Given the description of an element on the screen output the (x, y) to click on. 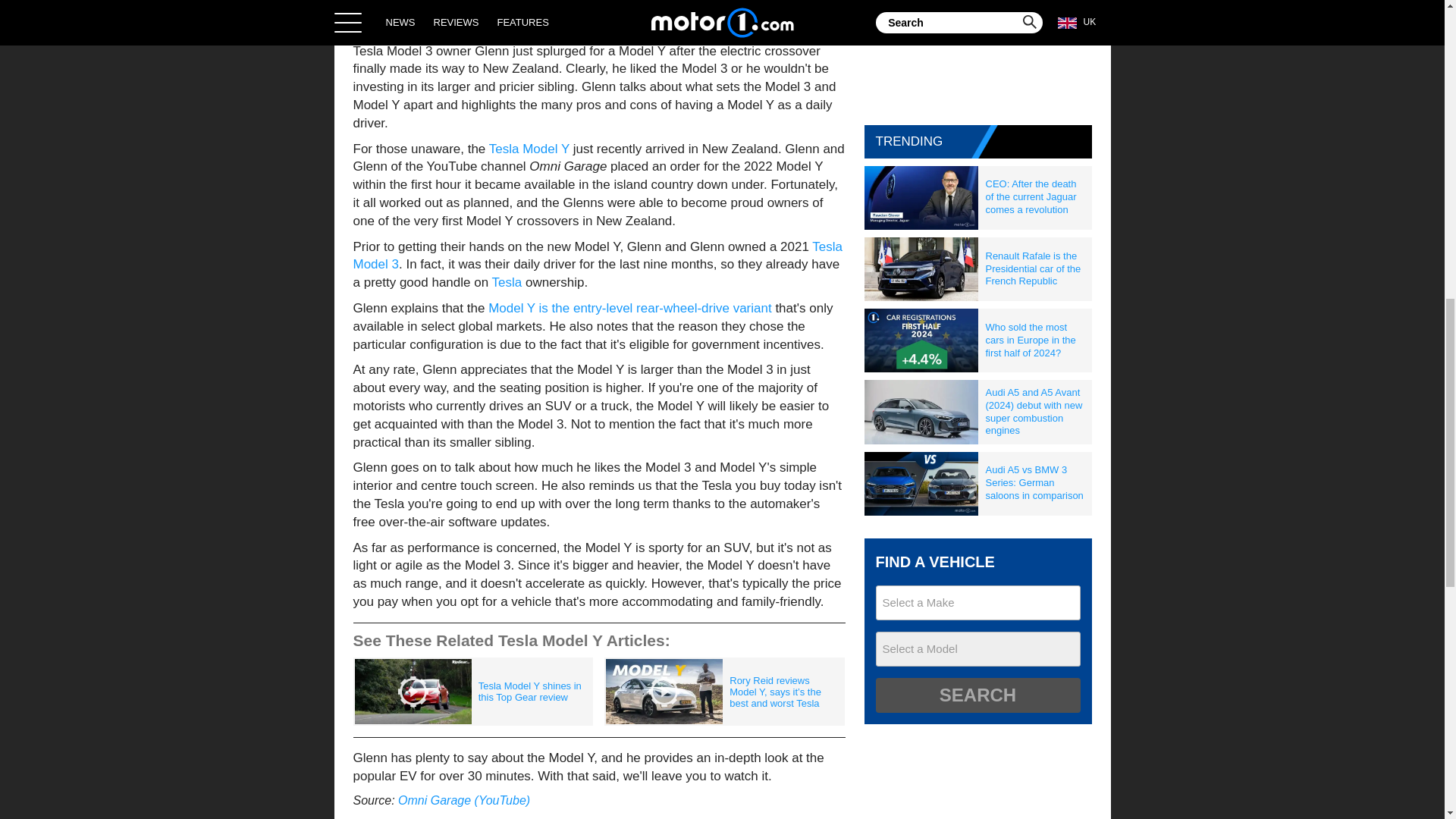
Tesla Model Y (529, 148)
Tesla Model 3 (598, 255)
Tesla (507, 282)
Brian Potter (532, 1)
Search (977, 695)
Model Y is the entry-level rear-wheel-drive variant (629, 308)
